Given the description of an element on the screen output the (x, y) to click on. 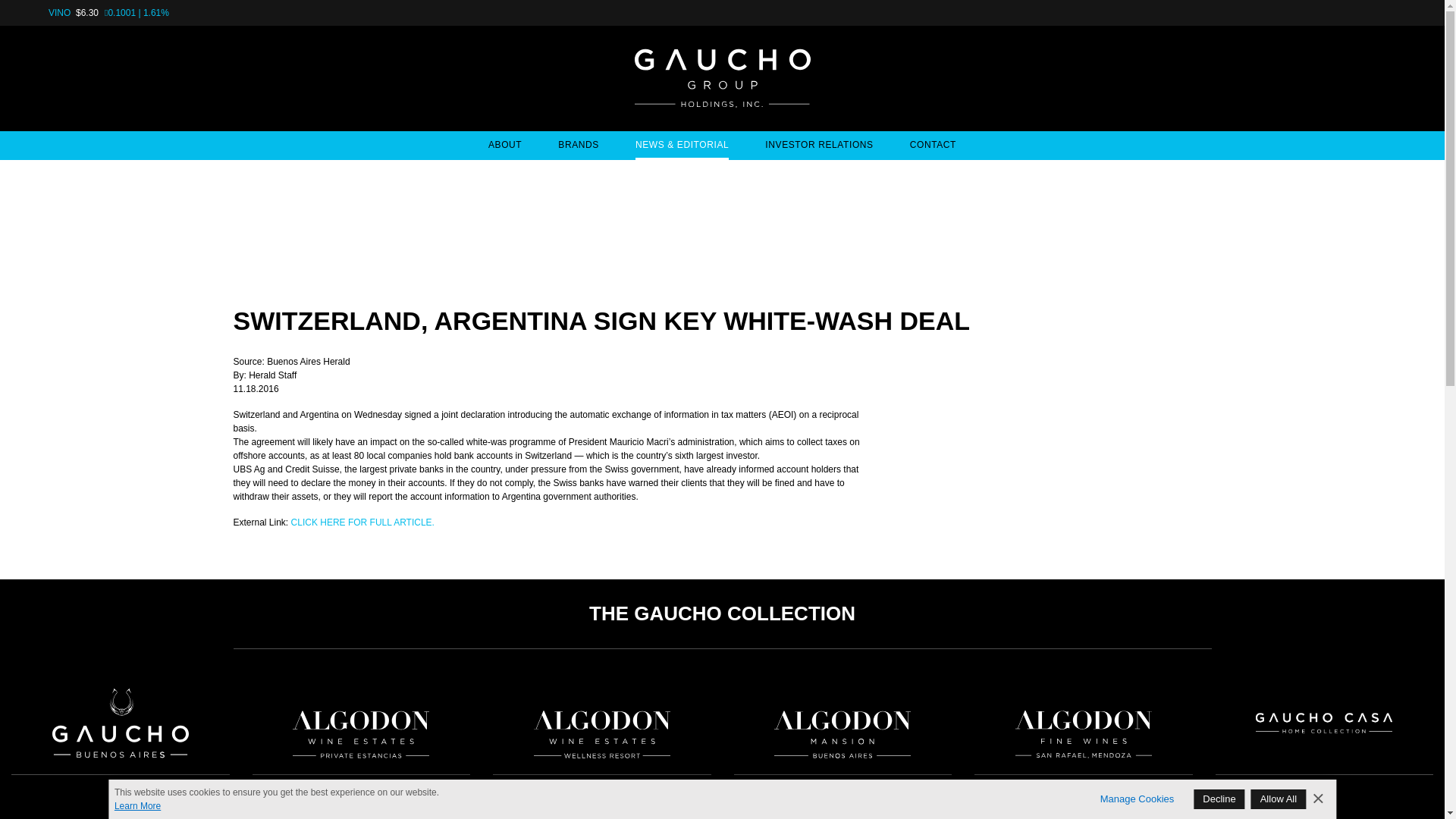
INVESTOR RELATIONS (818, 145)
ABOUT (504, 145)
CONTACT (933, 145)
CLICK HERE FOR FULL ARTICLE. (362, 521)
BRANDS (577, 145)
